Given the description of an element on the screen output the (x, y) to click on. 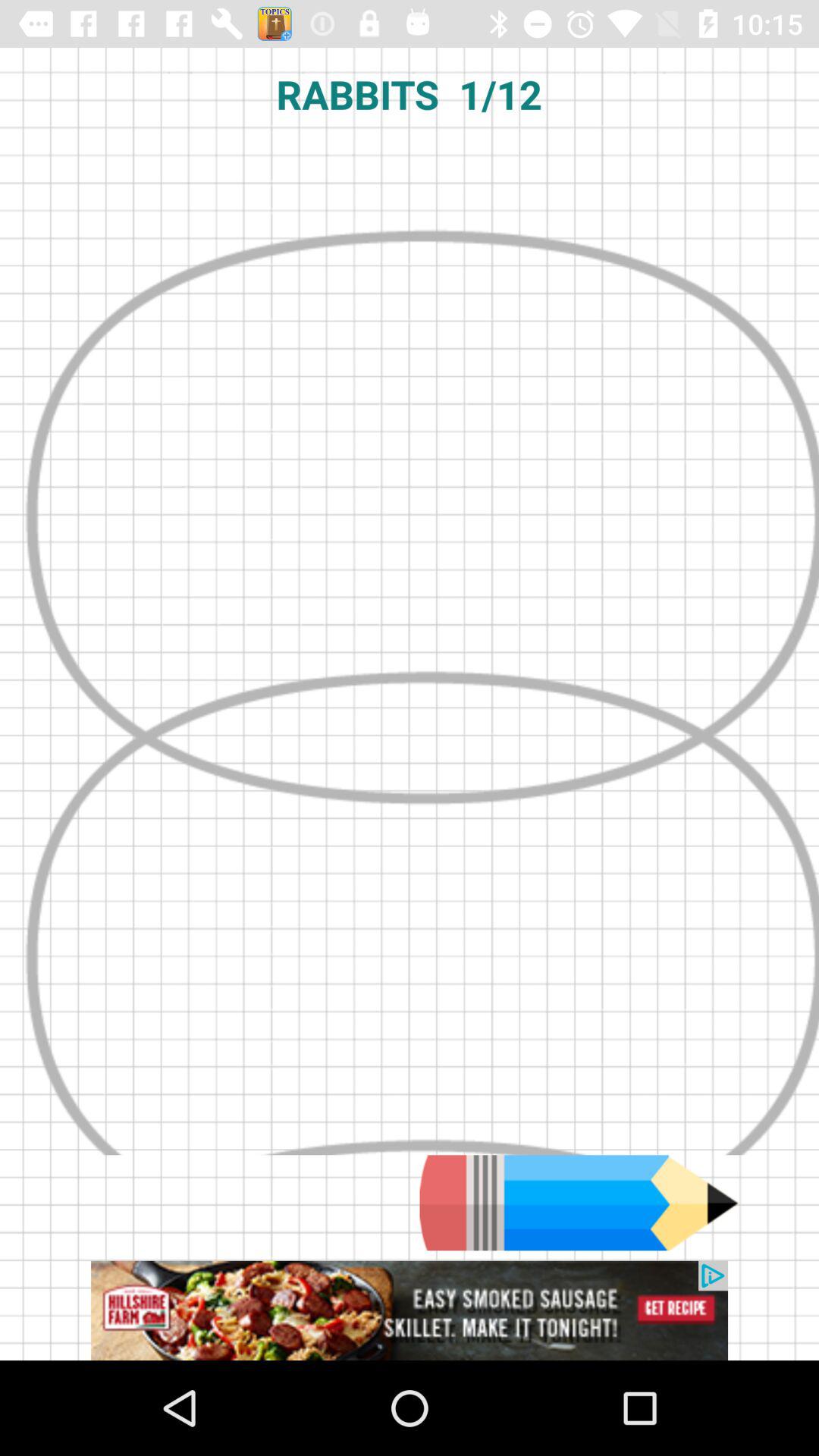
advertisement link (409, 1310)
